Given the description of an element on the screen output the (x, y) to click on. 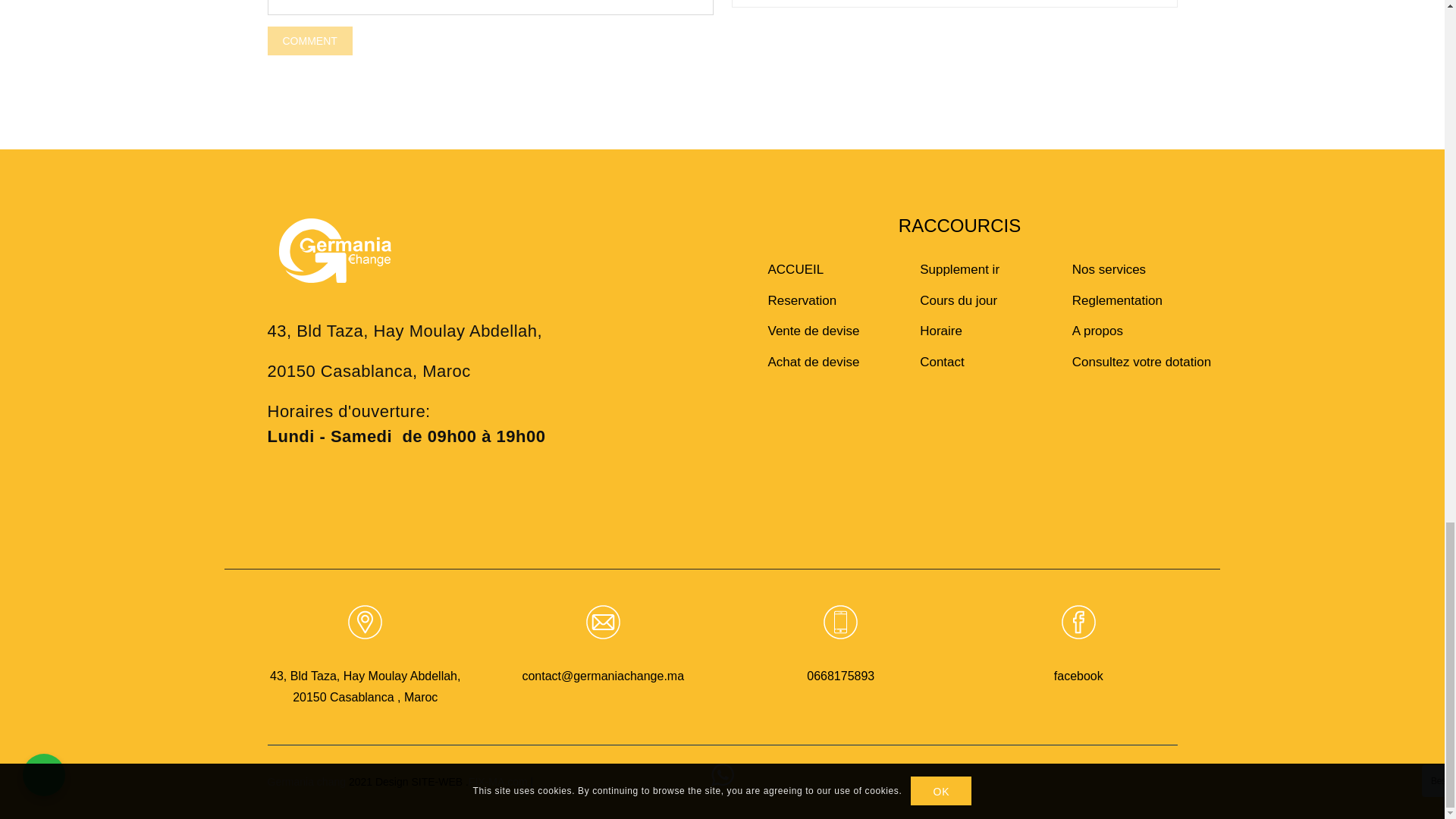
Supplement ir (959, 269)
ACCUEIL (806, 269)
Reservation (806, 300)
Comment (309, 40)
Vente de devise (806, 331)
Achat de devise (806, 361)
Comment (309, 40)
